Given the description of an element on the screen output the (x, y) to click on. 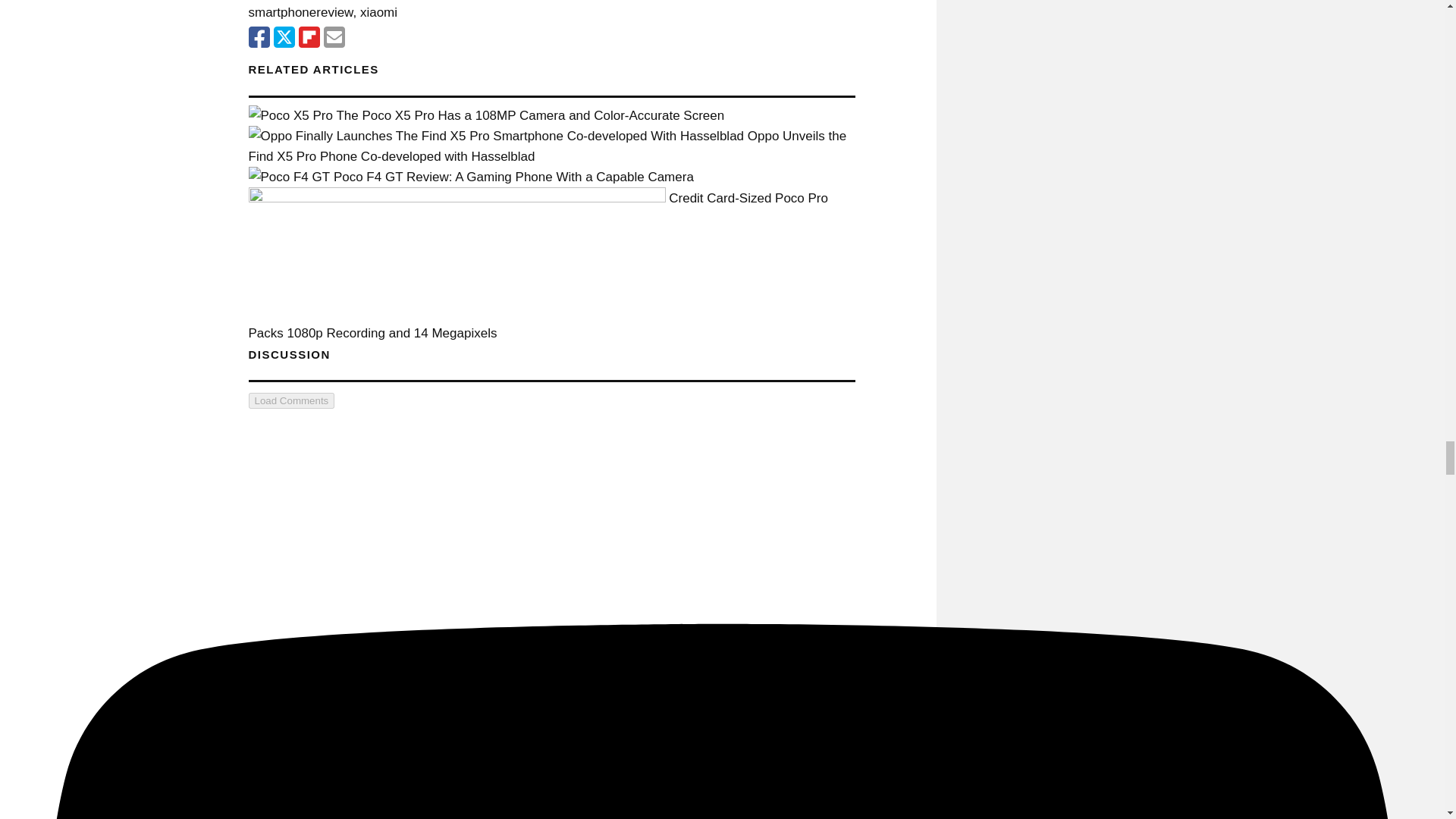
Share on Flipboard (309, 36)
Share on facebook (258, 36)
xiaomi (378, 11)
Share on X (283, 36)
Email this article (333, 36)
smartphonereview (300, 11)
